Given the description of an element on the screen output the (x, y) to click on. 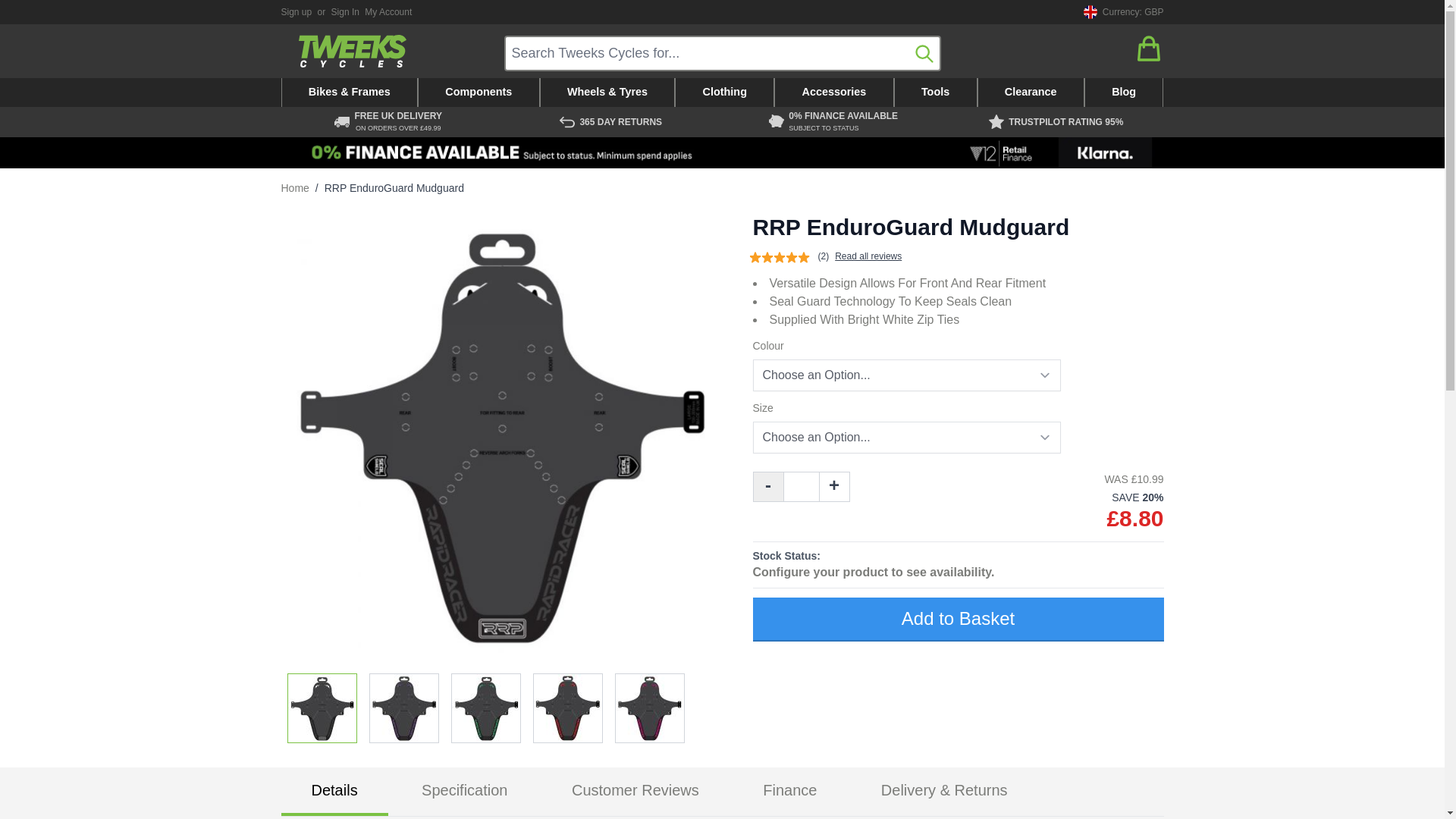
Finance (722, 152)
Go to Home Page (294, 187)
Sign up (296, 11)
Search (923, 52)
Cart (1147, 48)
My Account (388, 11)
Components (478, 92)
Currency: GBP (1120, 12)
Tweeks Cycles (352, 51)
